Given the description of an element on the screen output the (x, y) to click on. 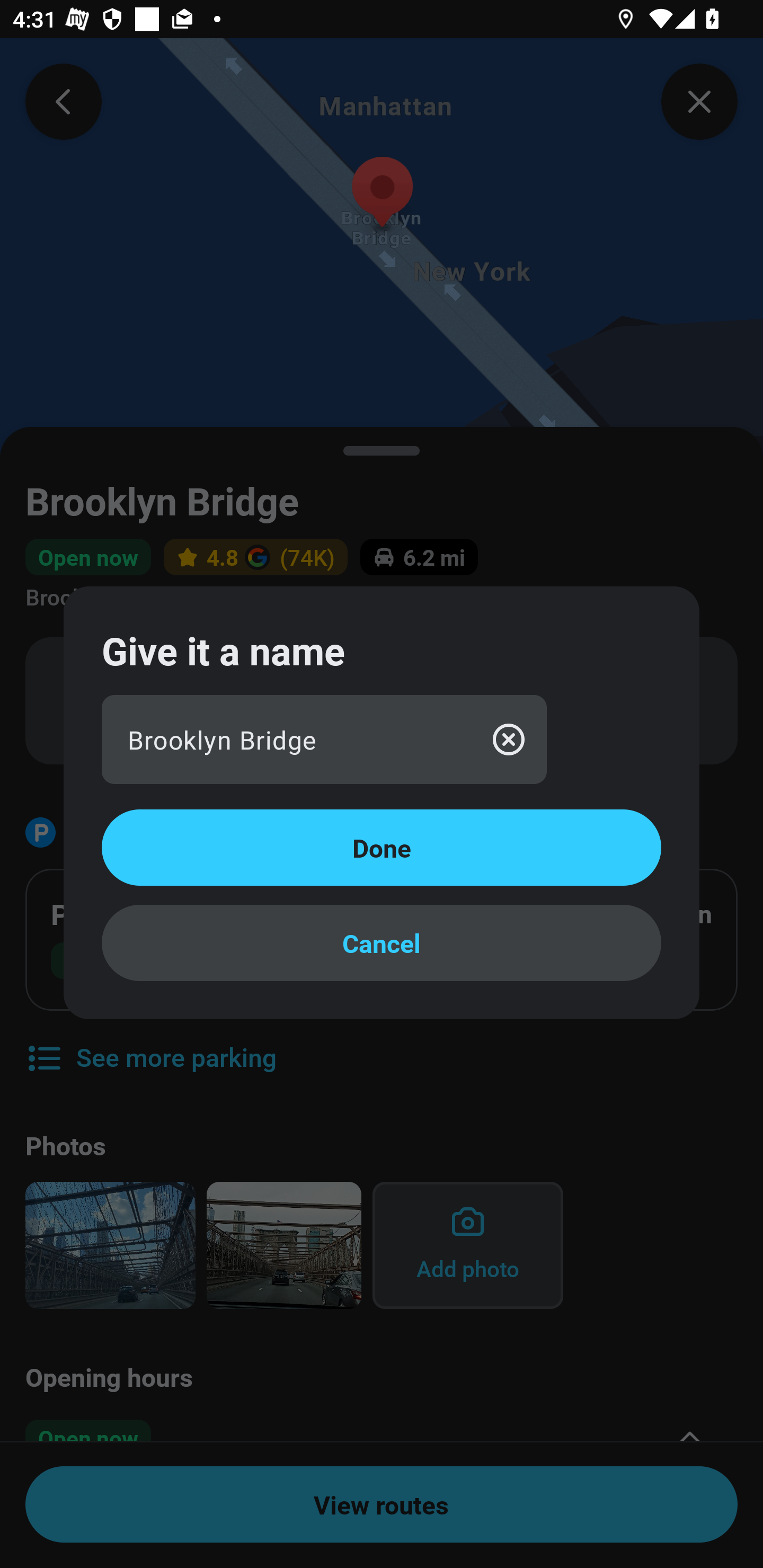
Brooklyn Bridge (324, 739)
Done (381, 847)
Cancel (381, 942)
